Given the description of an element on the screen output the (x, y) to click on. 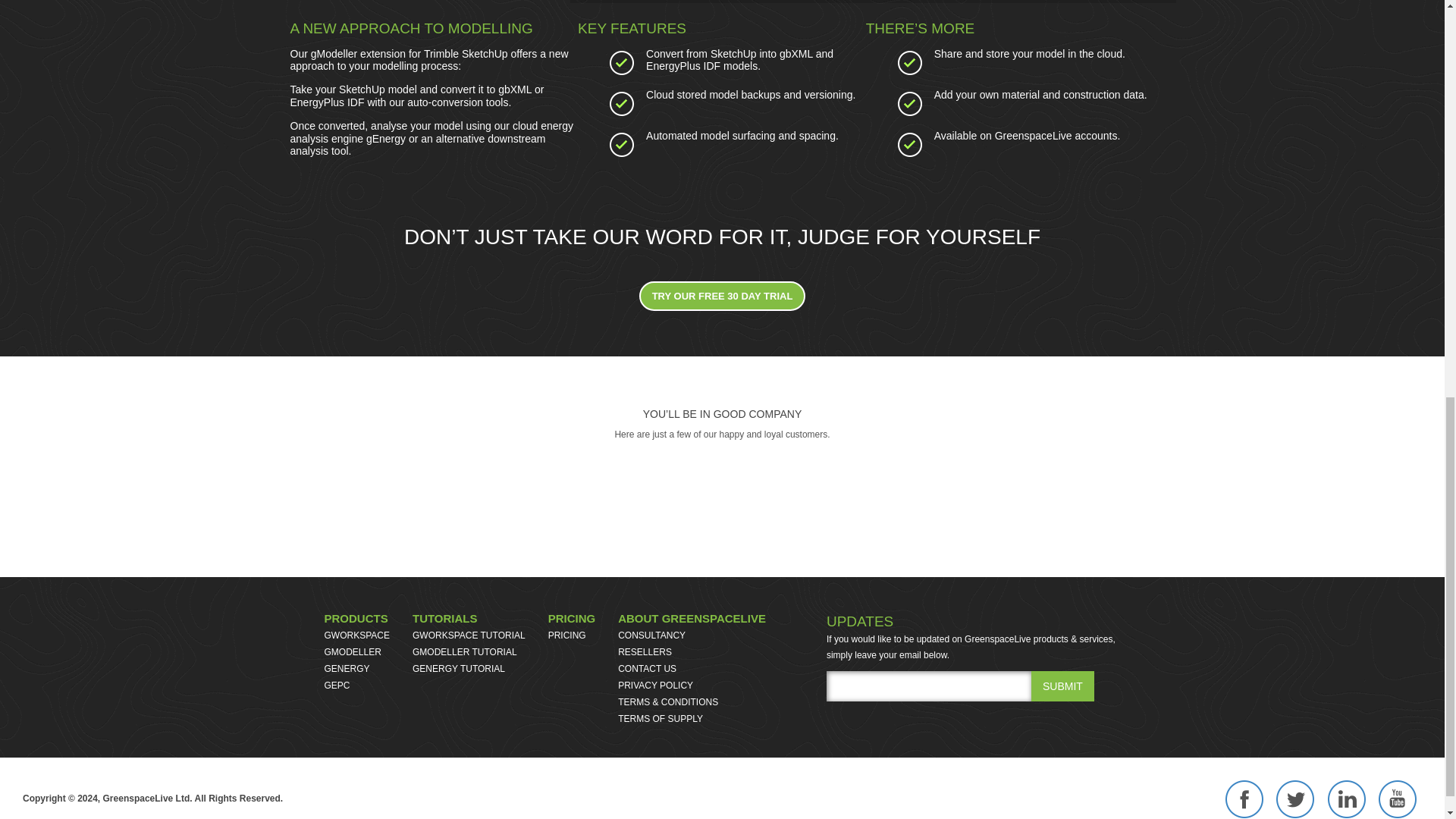
PRODUCTS (1062, 685)
GMODELLER (356, 617)
GWORKSPACE (337, 685)
TRY OUR FREE 30 DAY TRIAL (352, 652)
